Given the description of an element on the screen output the (x, y) to click on. 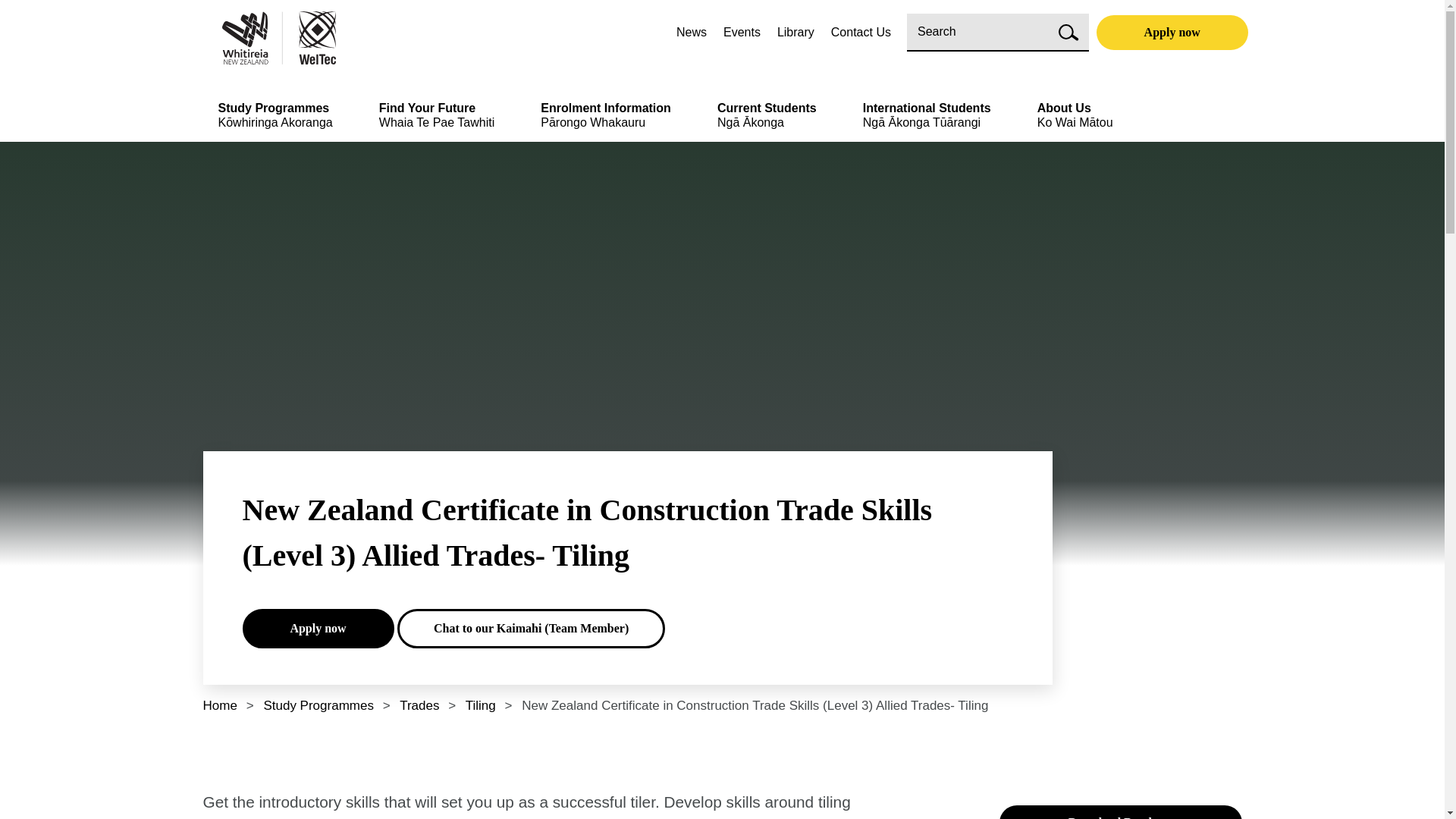
Go to the 'Home' page (359, 37)
Go to the 'Library' page (795, 31)
News (691, 31)
Study Programmes (318, 705)
Go to the 'Contact Us' page (860, 31)
Go to the 'International Students' page (927, 120)
Events (741, 31)
Go to the 'Current Students' page (766, 120)
Apply now (318, 628)
Go to the 'Find Your Future' page (436, 120)
